Given the description of an element on the screen output the (x, y) to click on. 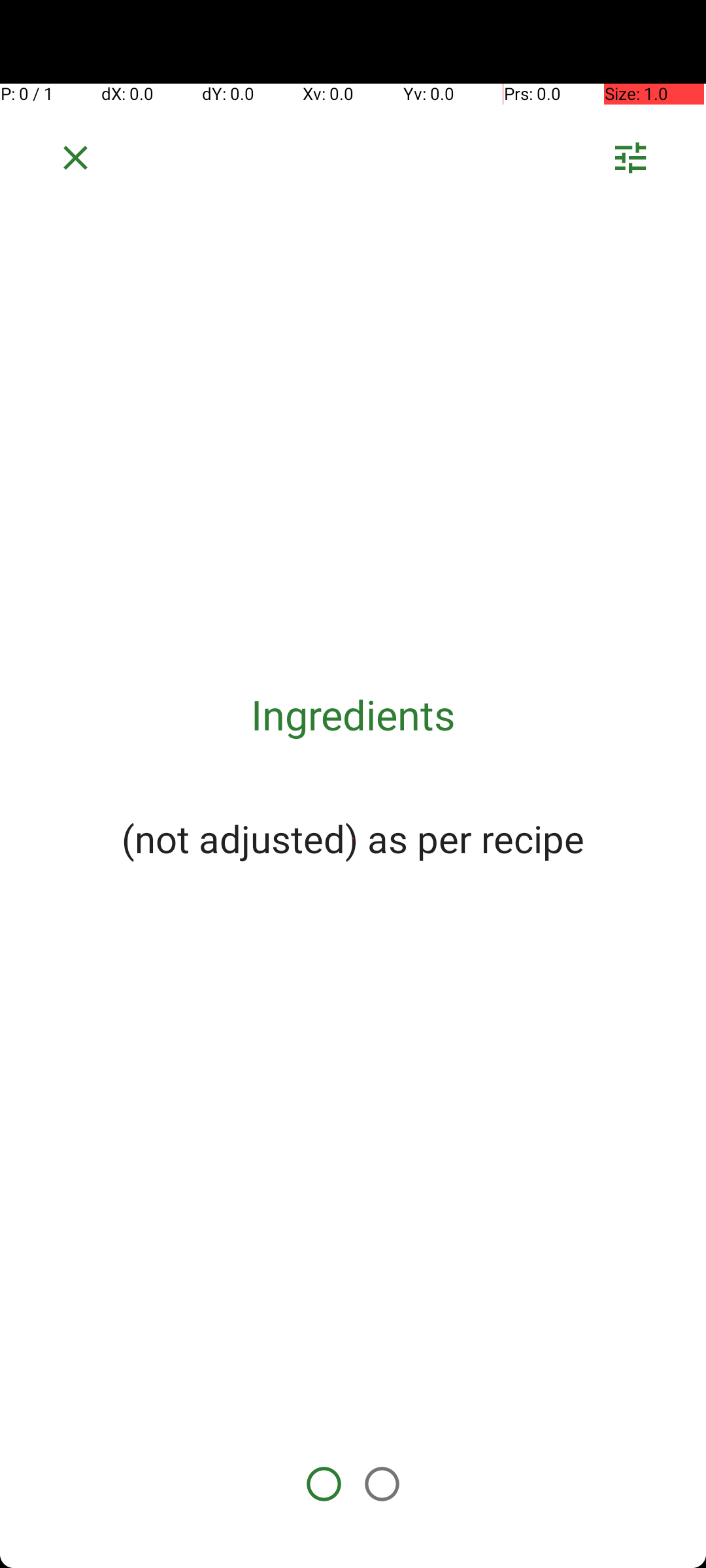
(not adjusted) as per recipe Element type: android.widget.TextView (353, 838)
